Given the description of an element on the screen output the (x, y) to click on. 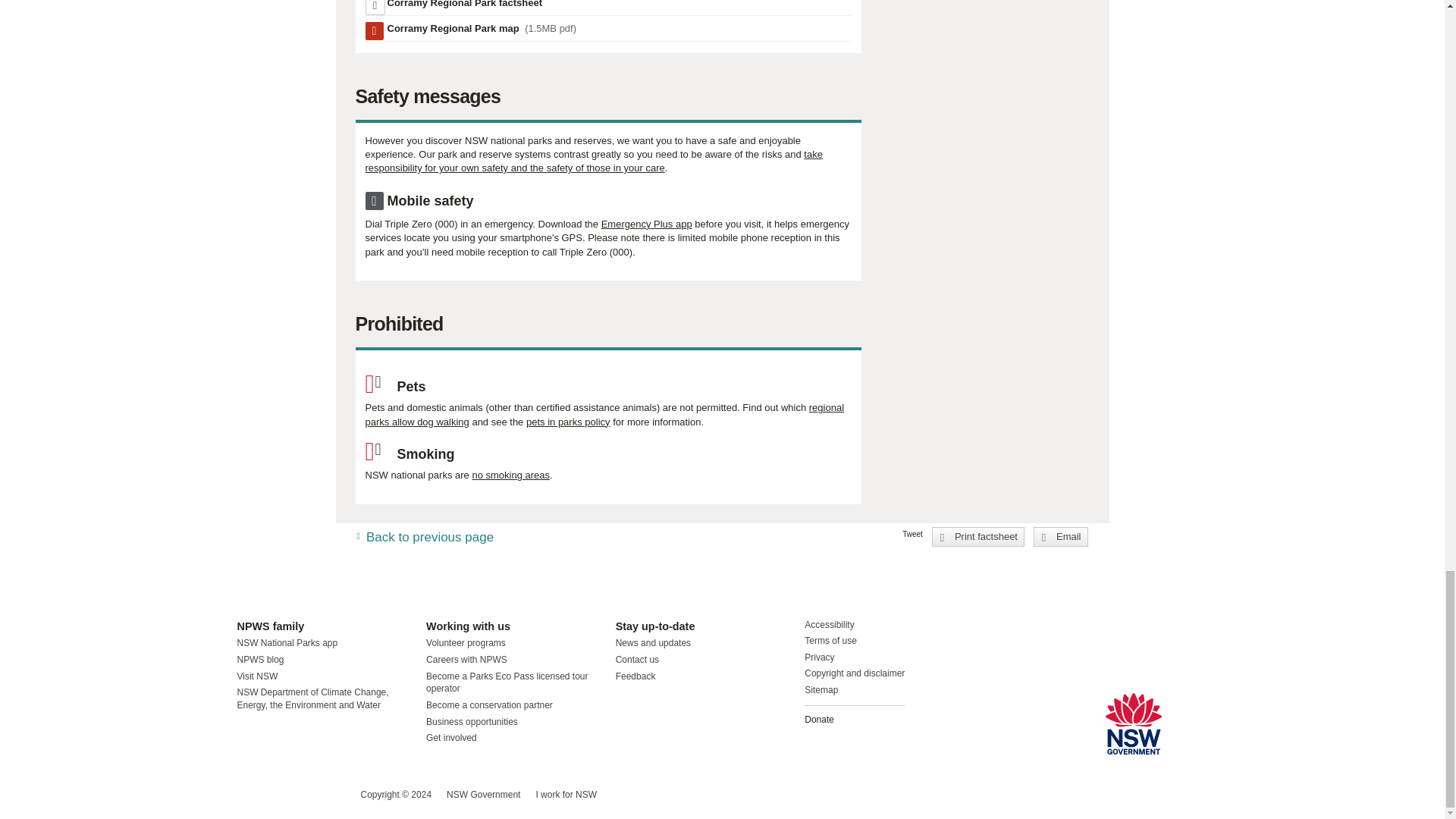
New South Wales Government (1133, 723)
Visit NSW National Parks on Instagram (283, 795)
Visit NSW National Parks on Youtube (315, 795)
Visit NSW National Parks on Facebook (249, 795)
Print-friendly version of these webpages (464, 4)
Print-friendly version of these webpages (978, 537)
